Given the description of an element on the screen output the (x, y) to click on. 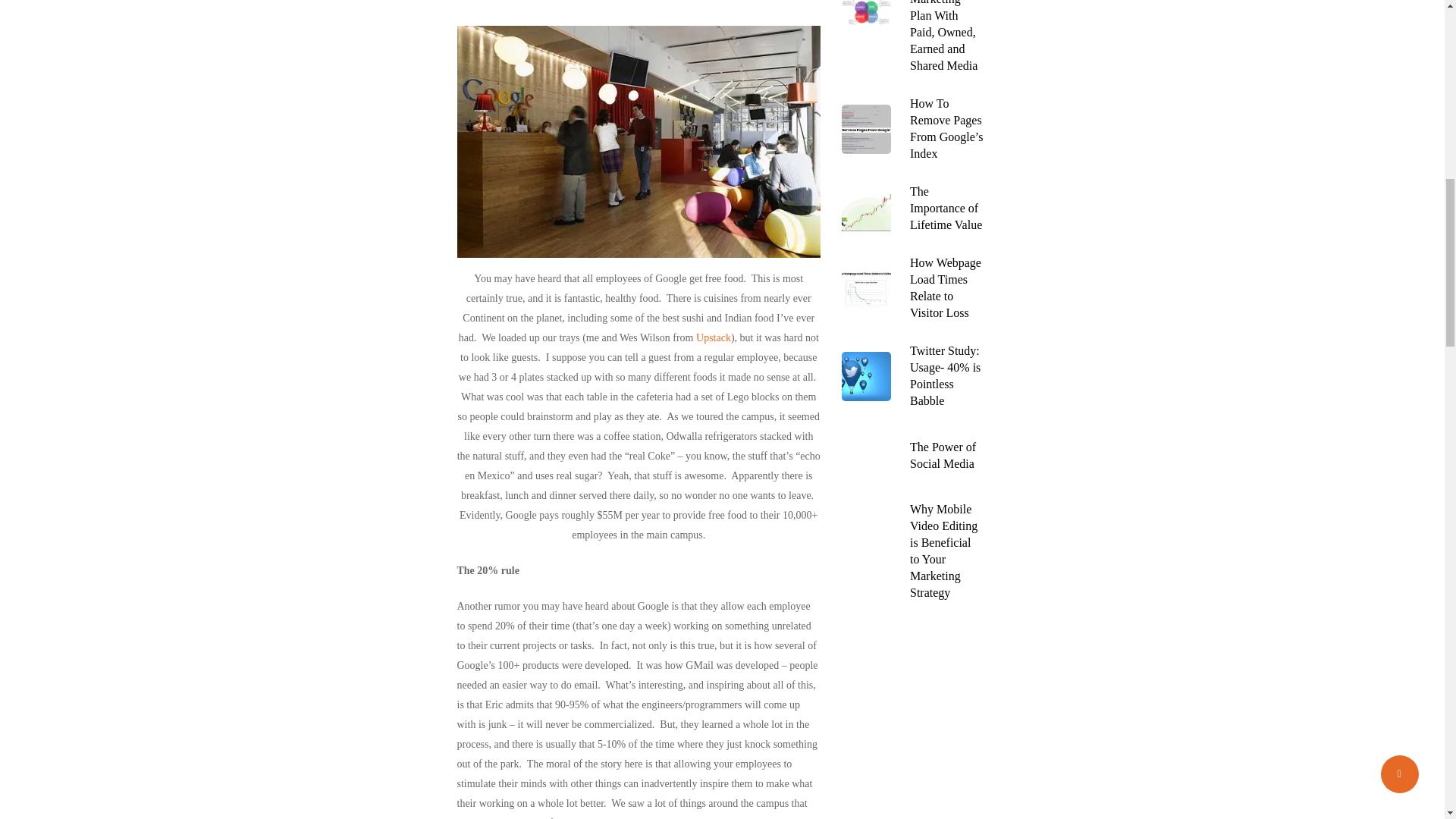
quality design projects (712, 337)
google-cafeteria (639, 141)
Upstack (712, 337)
